Given the description of an element on the screen output the (x, y) to click on. 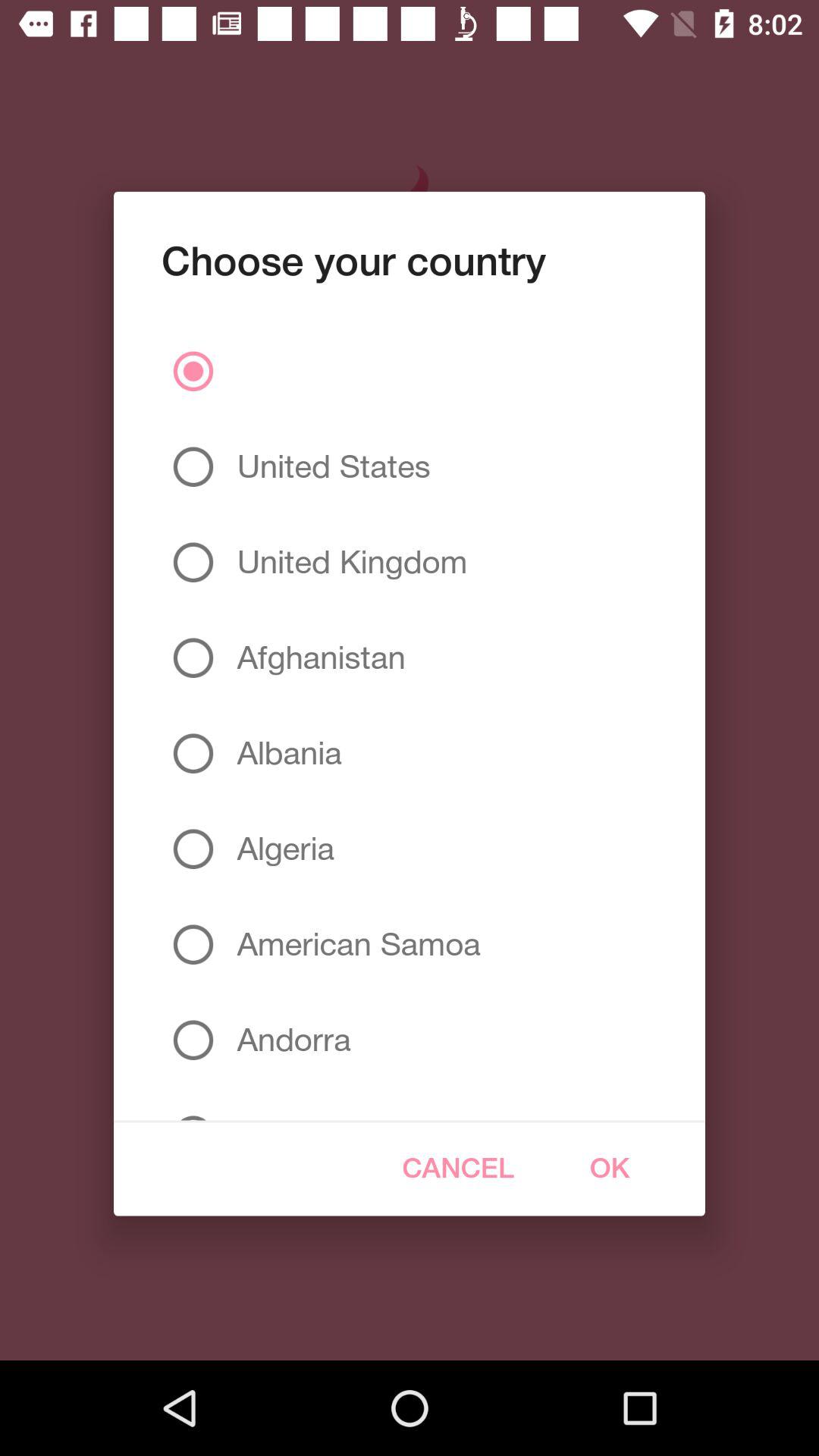
tap icon to the right of angola (458, 1167)
